Given the description of an element on the screen output the (x, y) to click on. 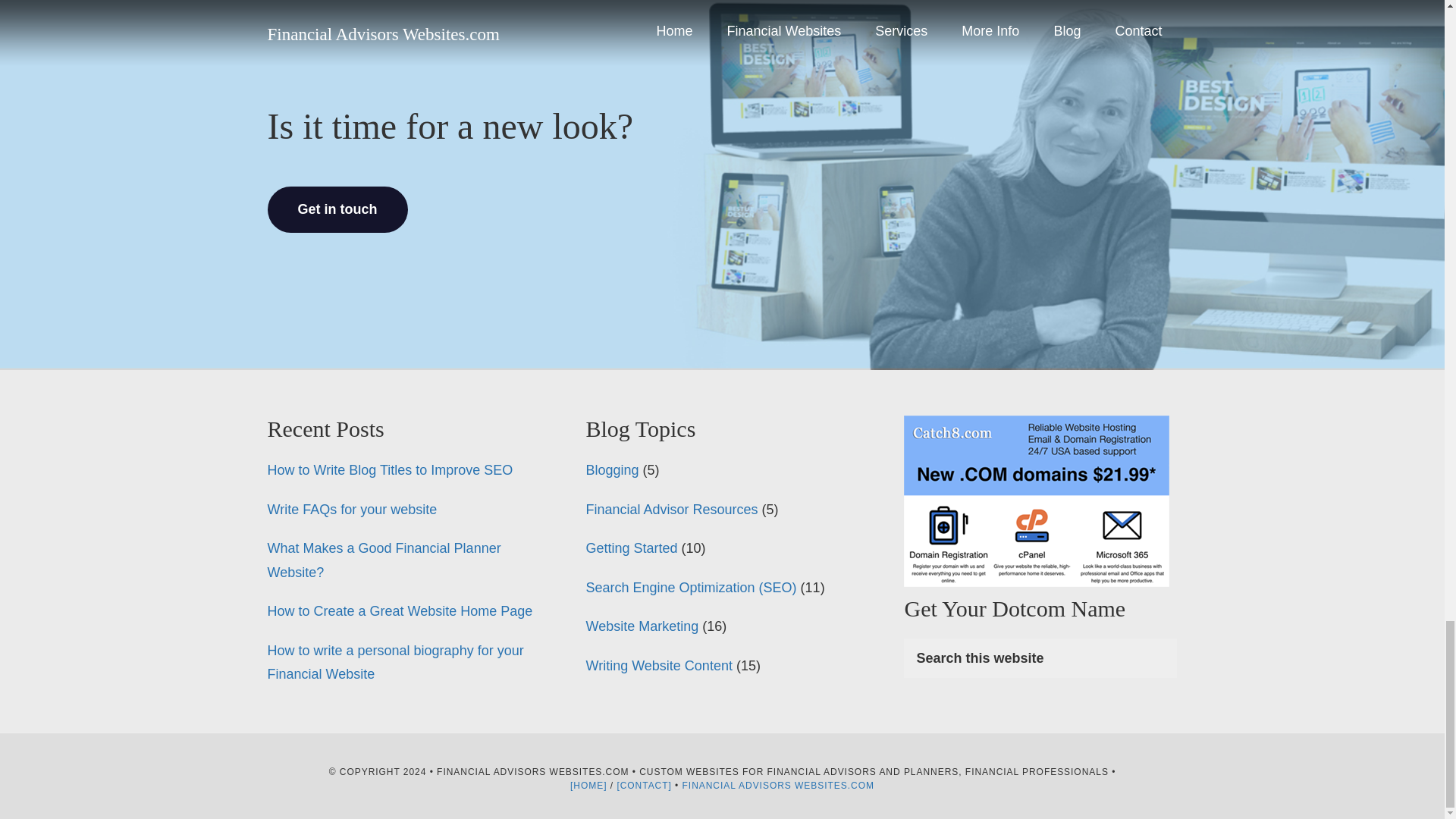
What Makes a Good Financial Planner Website? (383, 559)
Blogging (612, 469)
How to Write Blog Titles to Improve SEO (389, 469)
Get in touch (336, 209)
Write FAQs for your website (351, 509)
How to Create a Great Website Home Page (399, 611)
Website Marketing (641, 626)
How to write a personal biography for your Financial Website (394, 662)
Getting Started (631, 548)
Financial Advisor Resources (671, 509)
Writing Website Content (658, 665)
